Given the description of an element on the screen output the (x, y) to click on. 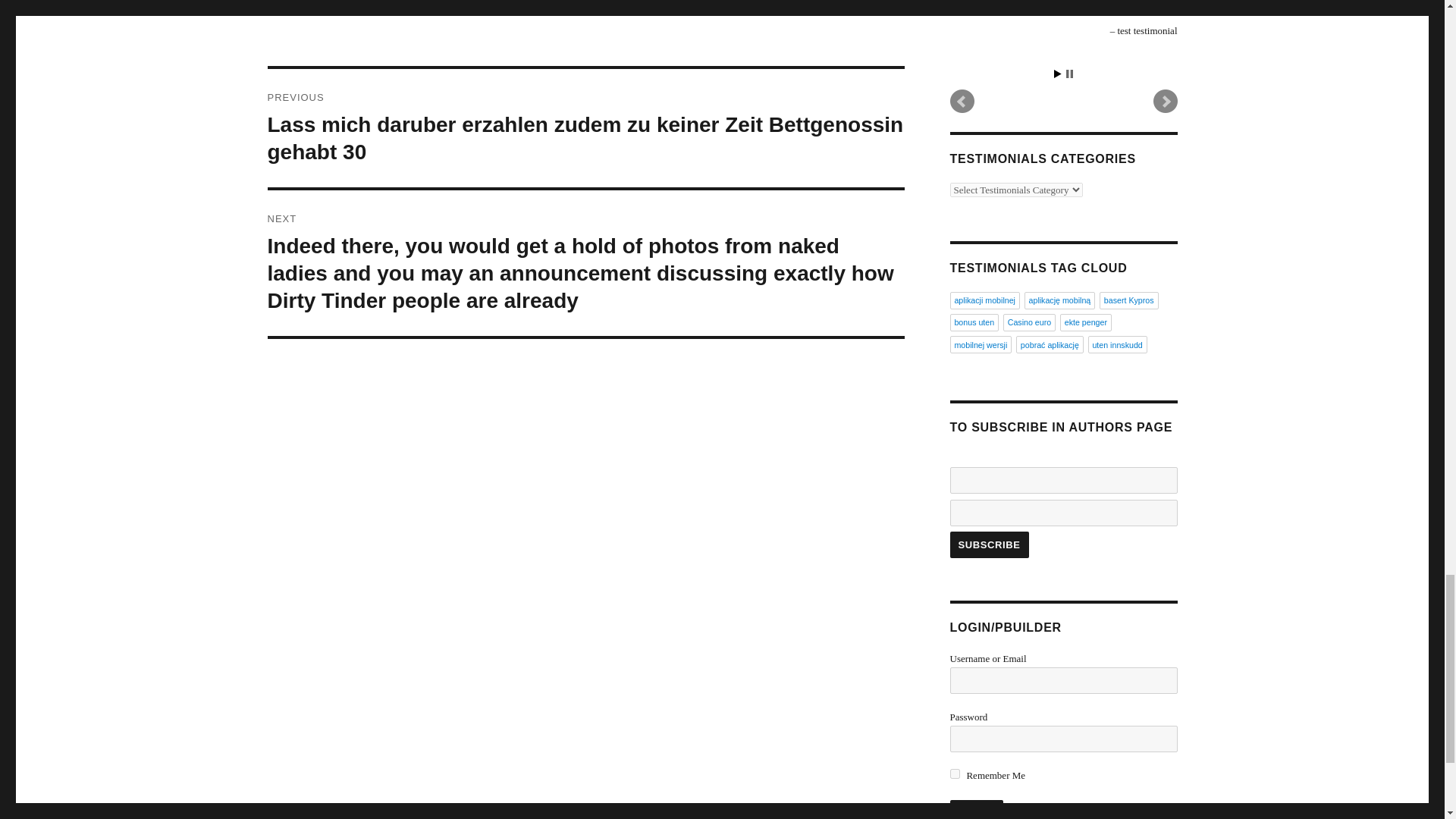
forever (954, 773)
Log In (976, 809)
Subscribe (988, 544)
